Given the description of an element on the screen output the (x, y) to click on. 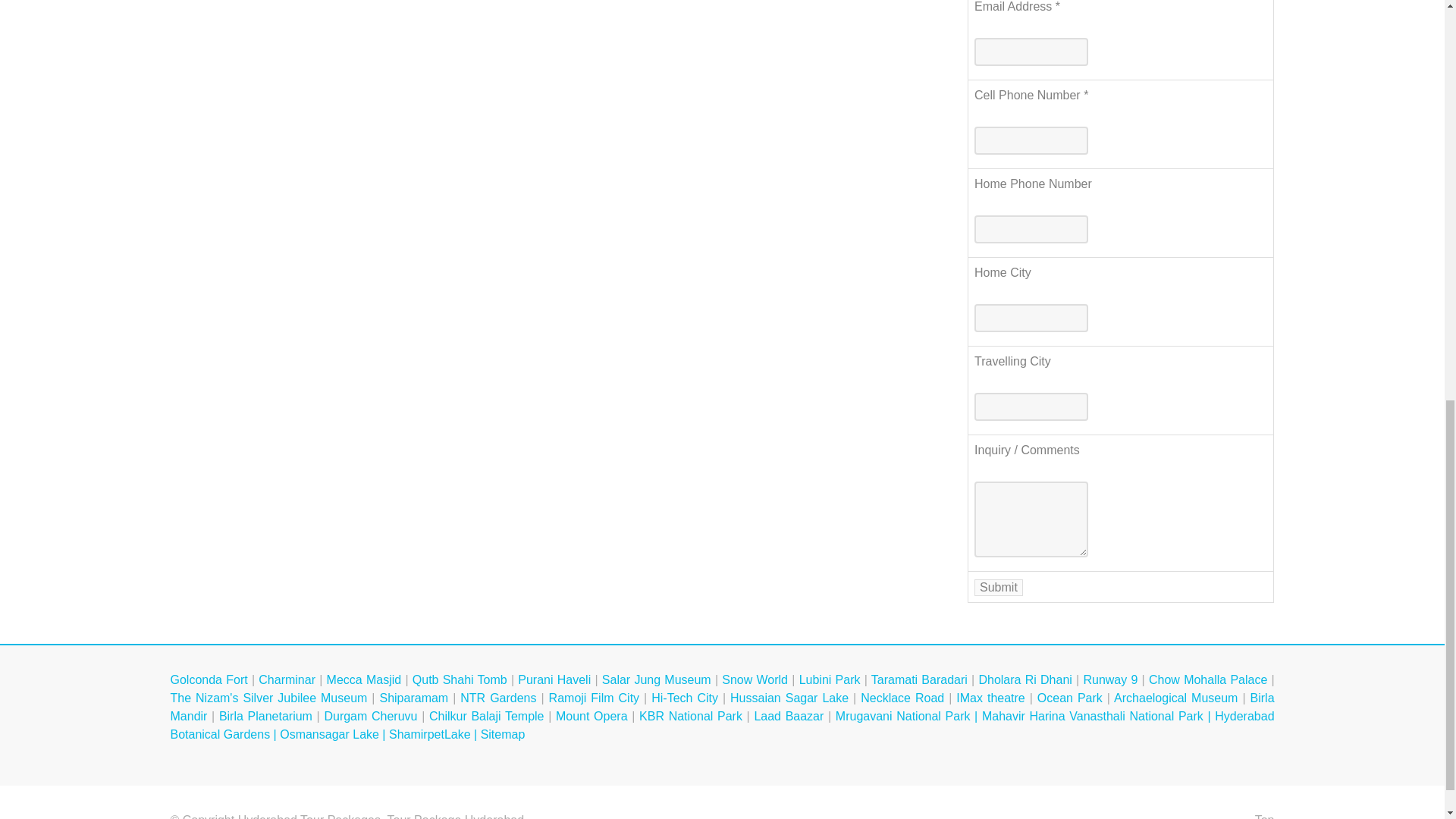
Submit (998, 587)
